Given the description of an element on the screen output the (x, y) to click on. 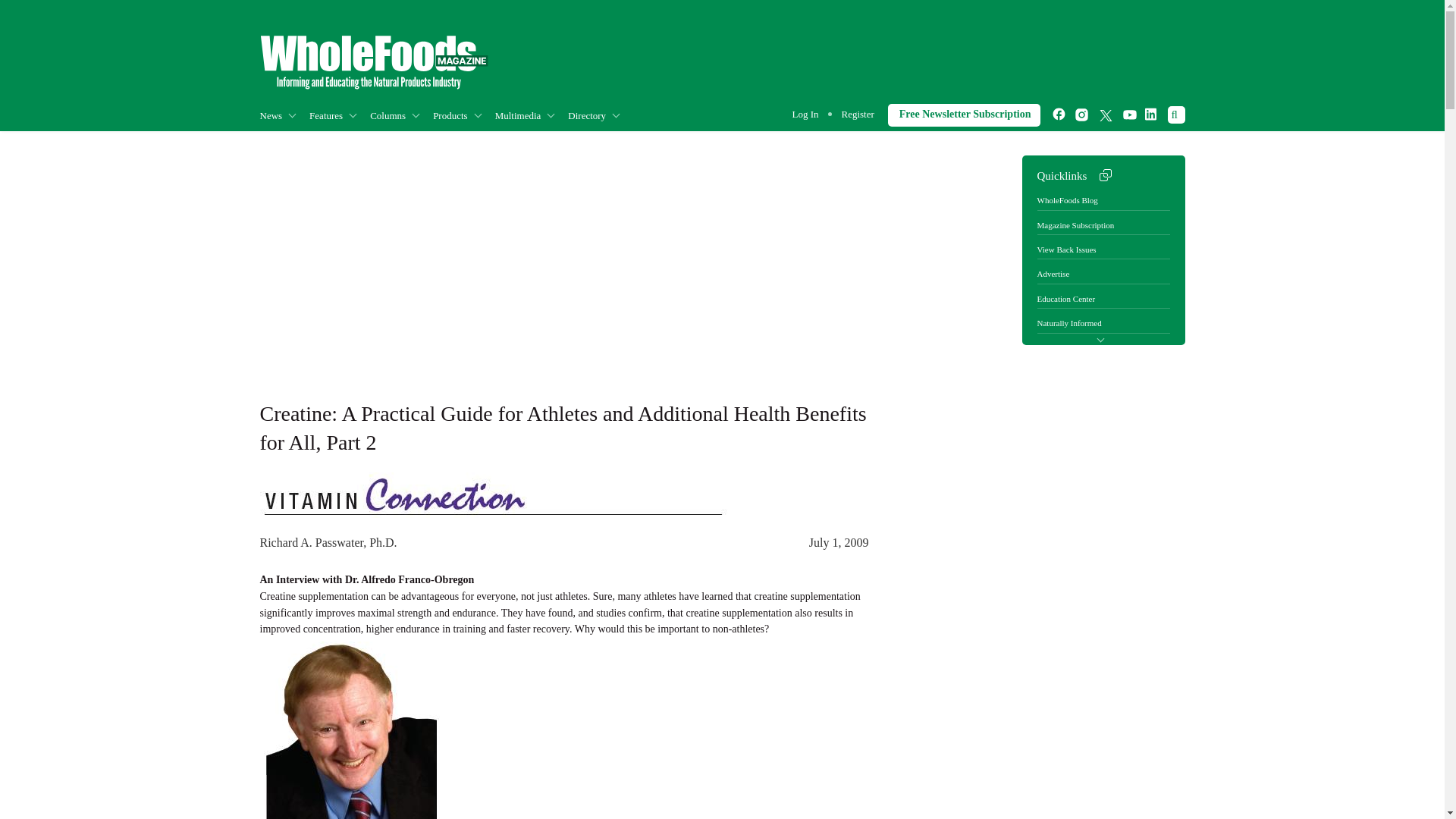
Group 2 (373, 62)
3rd party ad content (1038, 609)
3rd party ad content (908, 58)
